Given the description of an element on the screen output the (x, y) to click on. 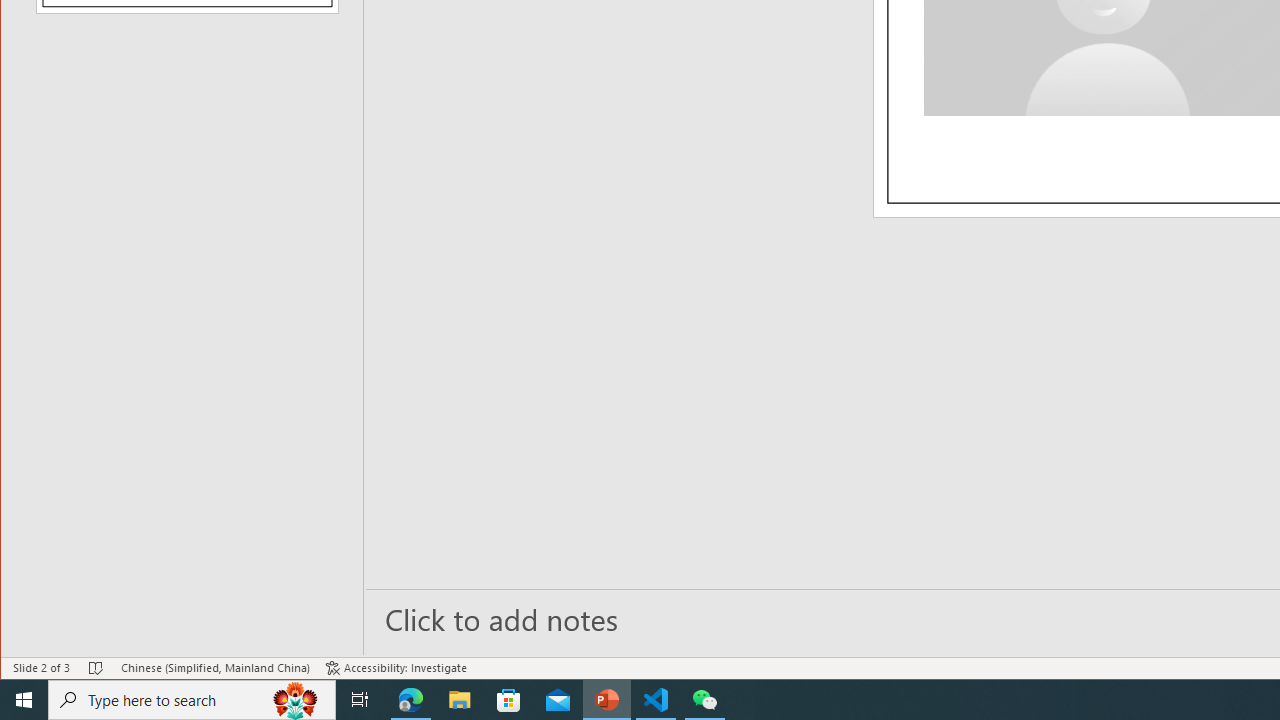
WeChat - 1 running window (704, 699)
